Given the description of an element on the screen output the (x, y) to click on. 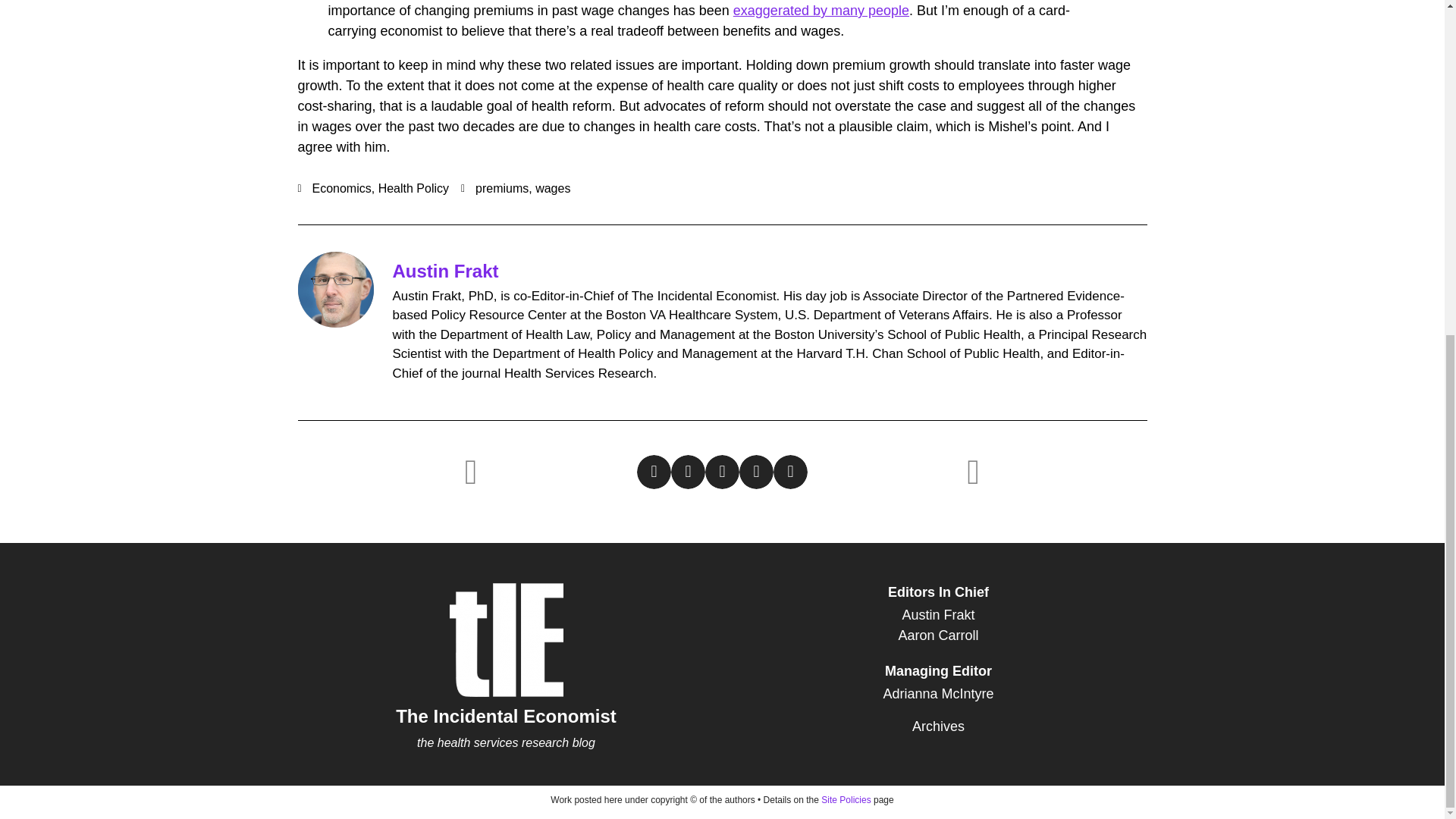
premiums (502, 187)
exaggerated by many people (820, 10)
Austin Frakt (938, 615)
wages (552, 187)
Adrianna McIntyre (938, 693)
Economics (342, 187)
Austin Frakt (446, 271)
Aaron Carroll (938, 635)
Archives (938, 726)
Health Policy (413, 187)
Site Policies (845, 799)
